Given the description of an element on the screen output the (x, y) to click on. 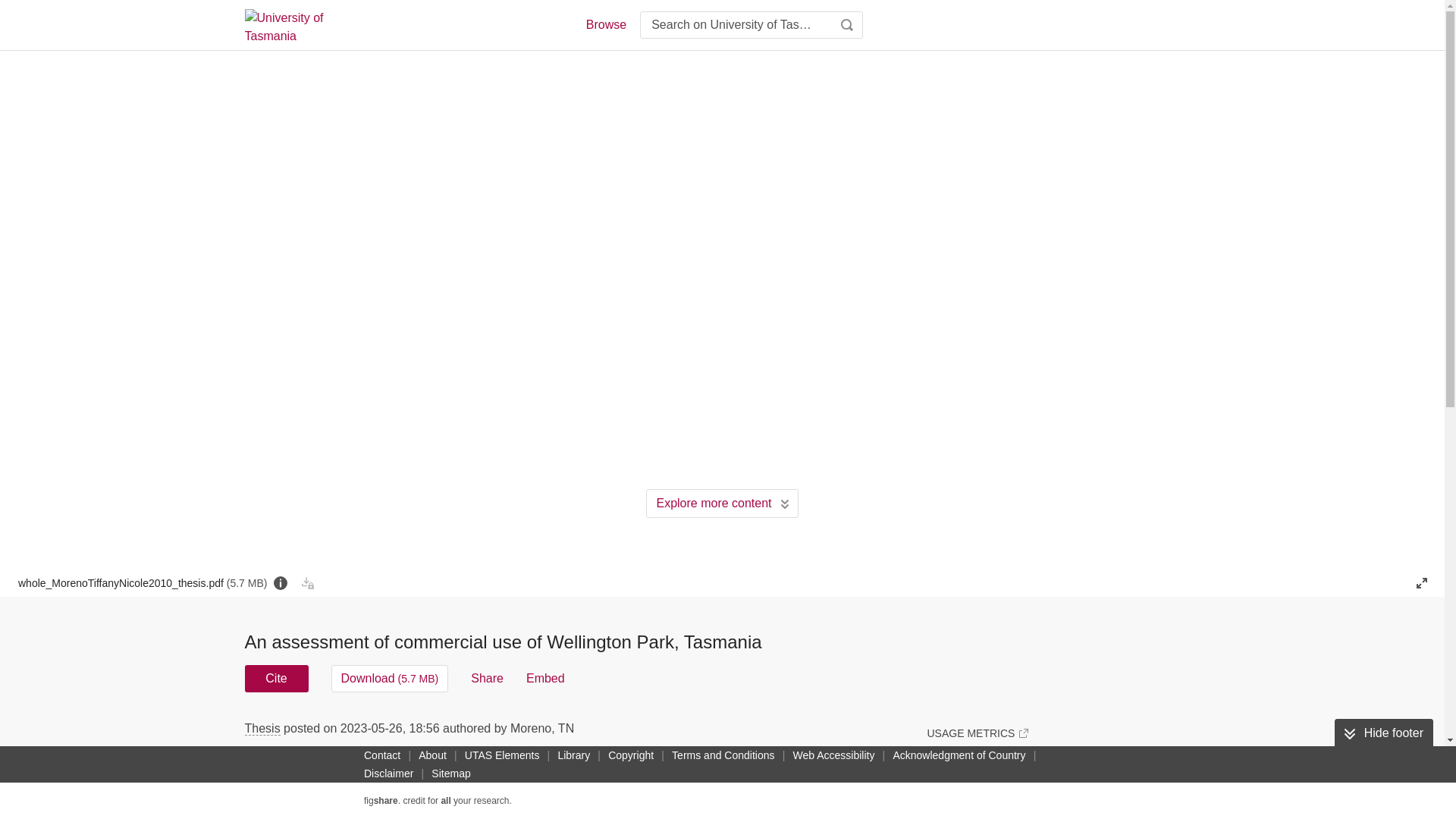
Hide footer (1383, 733)
Acknowledgment of Country (958, 755)
Copyright (631, 755)
Web Accessibility (834, 755)
Sitemap (450, 773)
Terms and Conditions (722, 755)
USAGE METRICS (976, 732)
Embed (544, 678)
Library (573, 755)
About (432, 755)
Browse (605, 24)
Disclaimer (388, 773)
Share (486, 678)
Cite (275, 678)
